Given the description of an element on the screen output the (x, y) to click on. 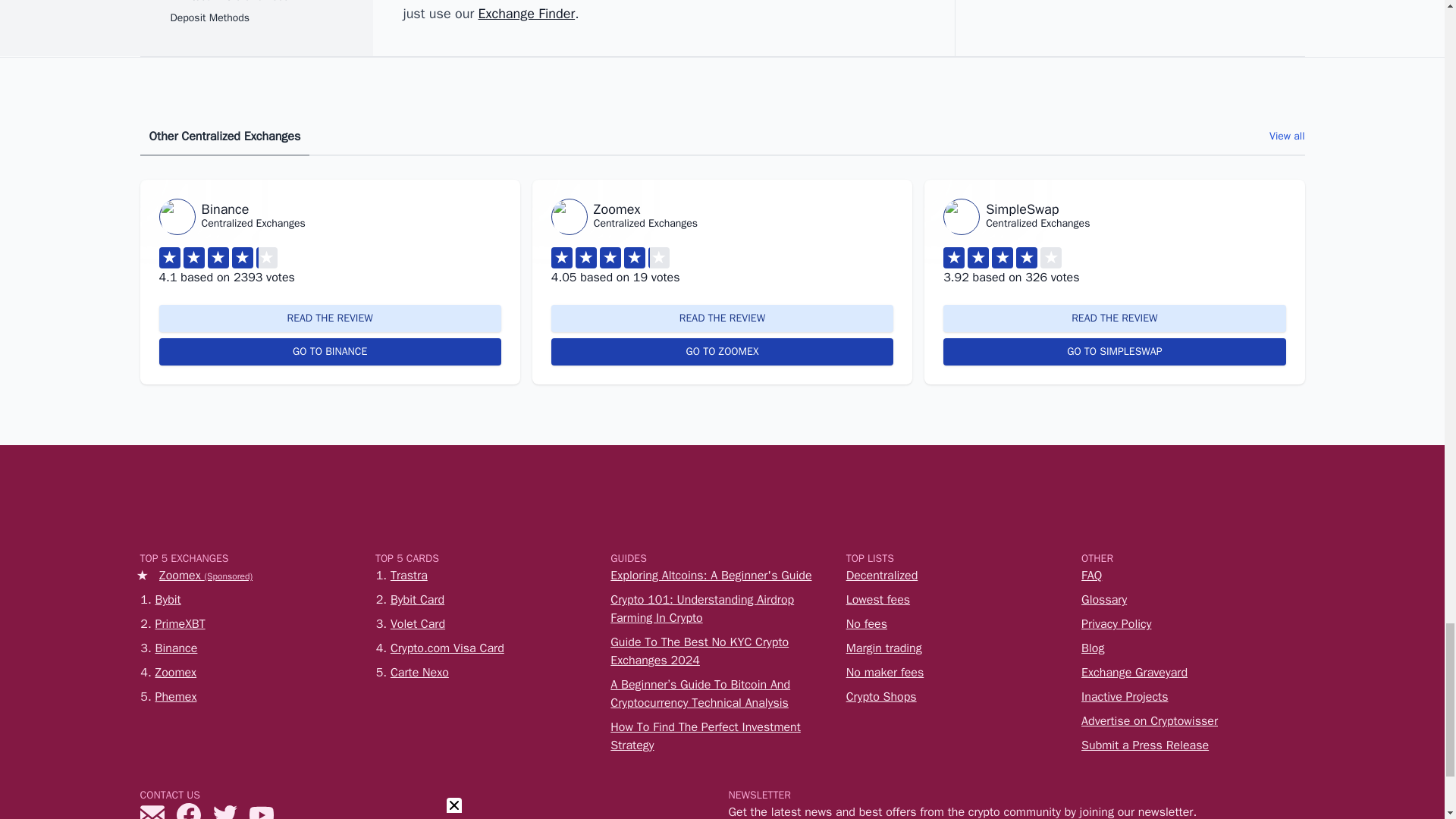
Other Centralized Exchanges (223, 136)
